Given the description of an element on the screen output the (x, y) to click on. 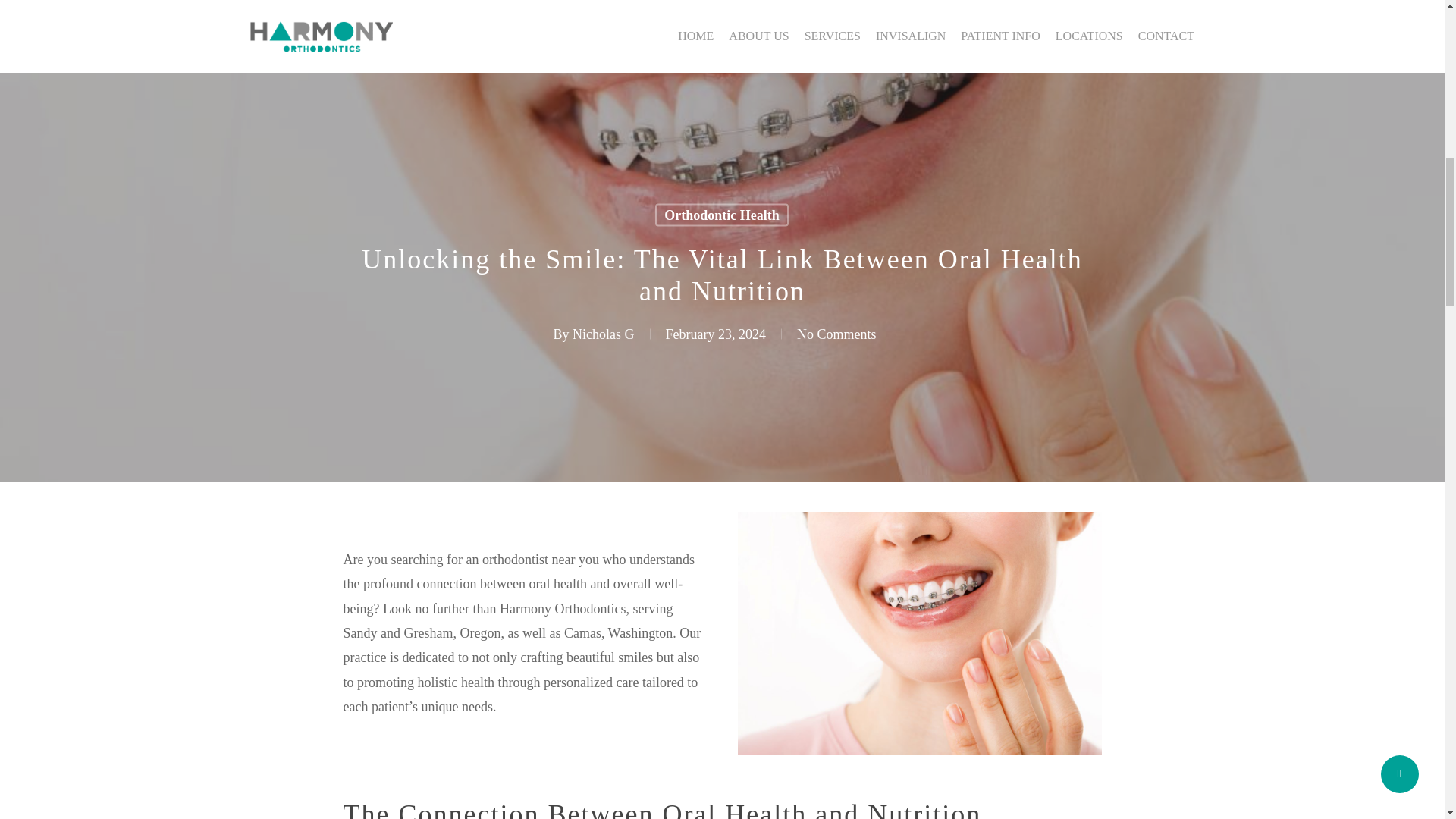
Nicholas G (602, 333)
Posts by Nicholas G (602, 333)
Orthodontic Health (722, 214)
